Given the description of an element on the screen output the (x, y) to click on. 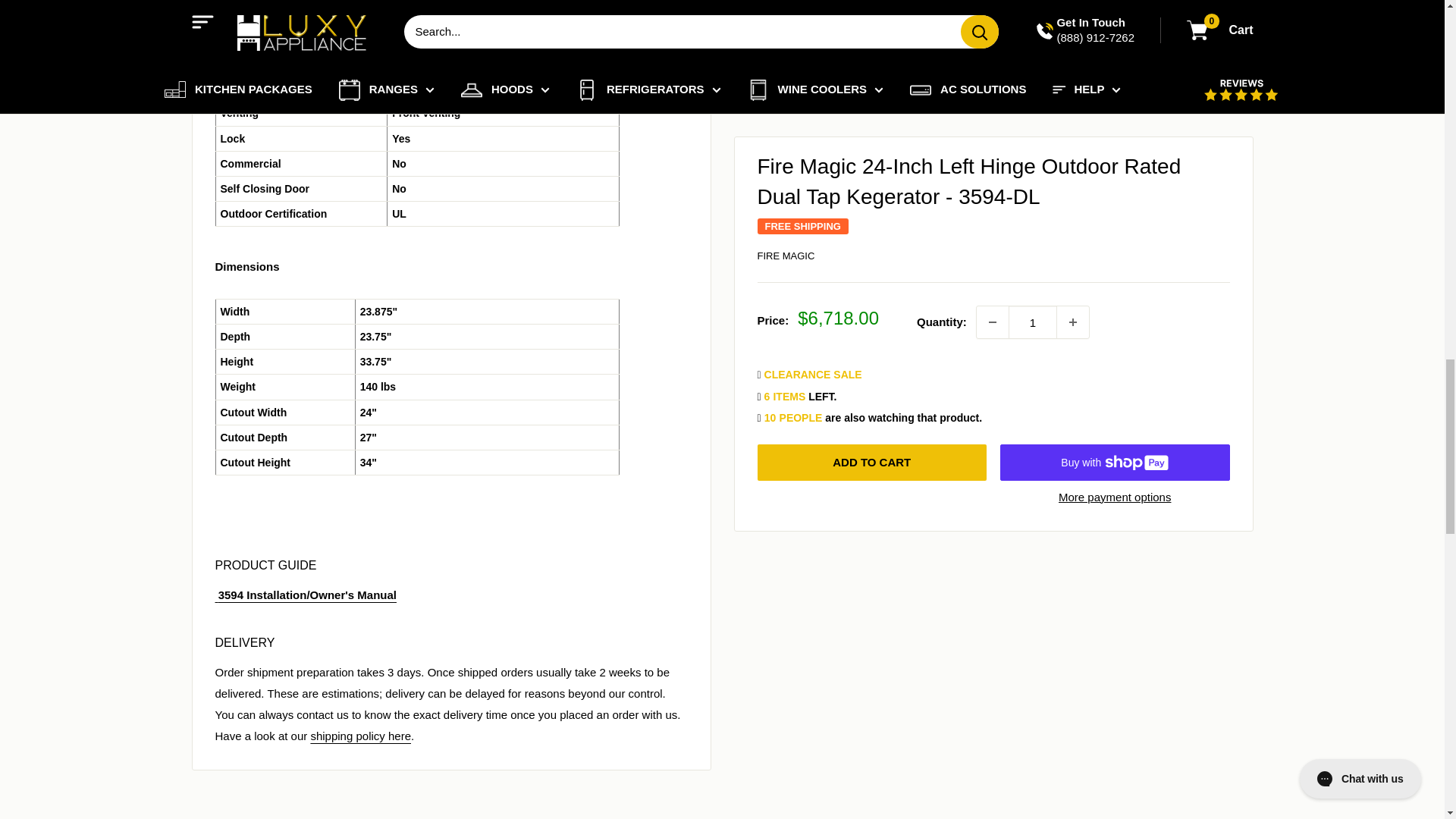
Shipping Policy (360, 735)
